Given the description of an element on the screen output the (x, y) to click on. 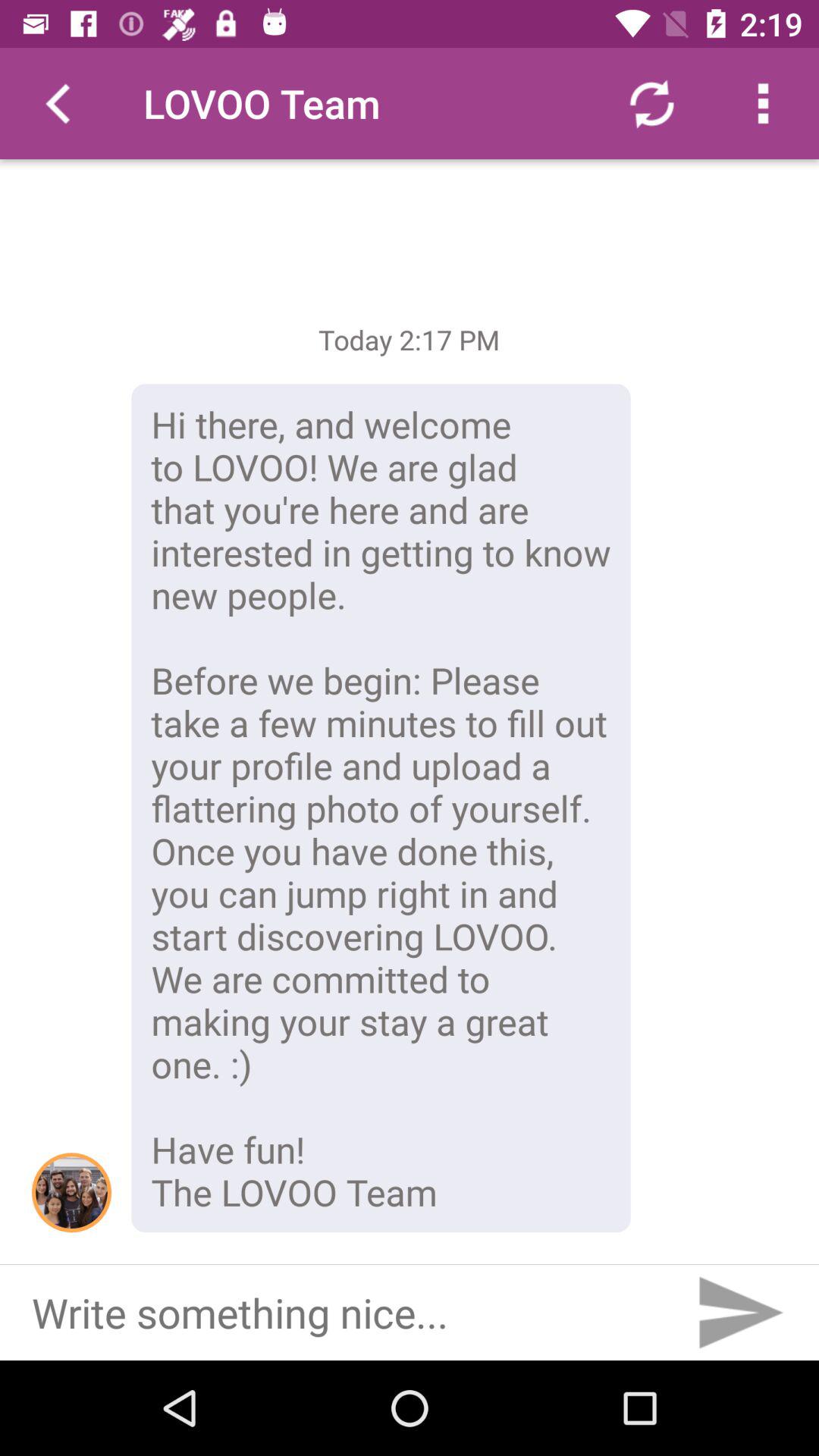
send (739, 1312)
